Given the description of an element on the screen output the (x, y) to click on. 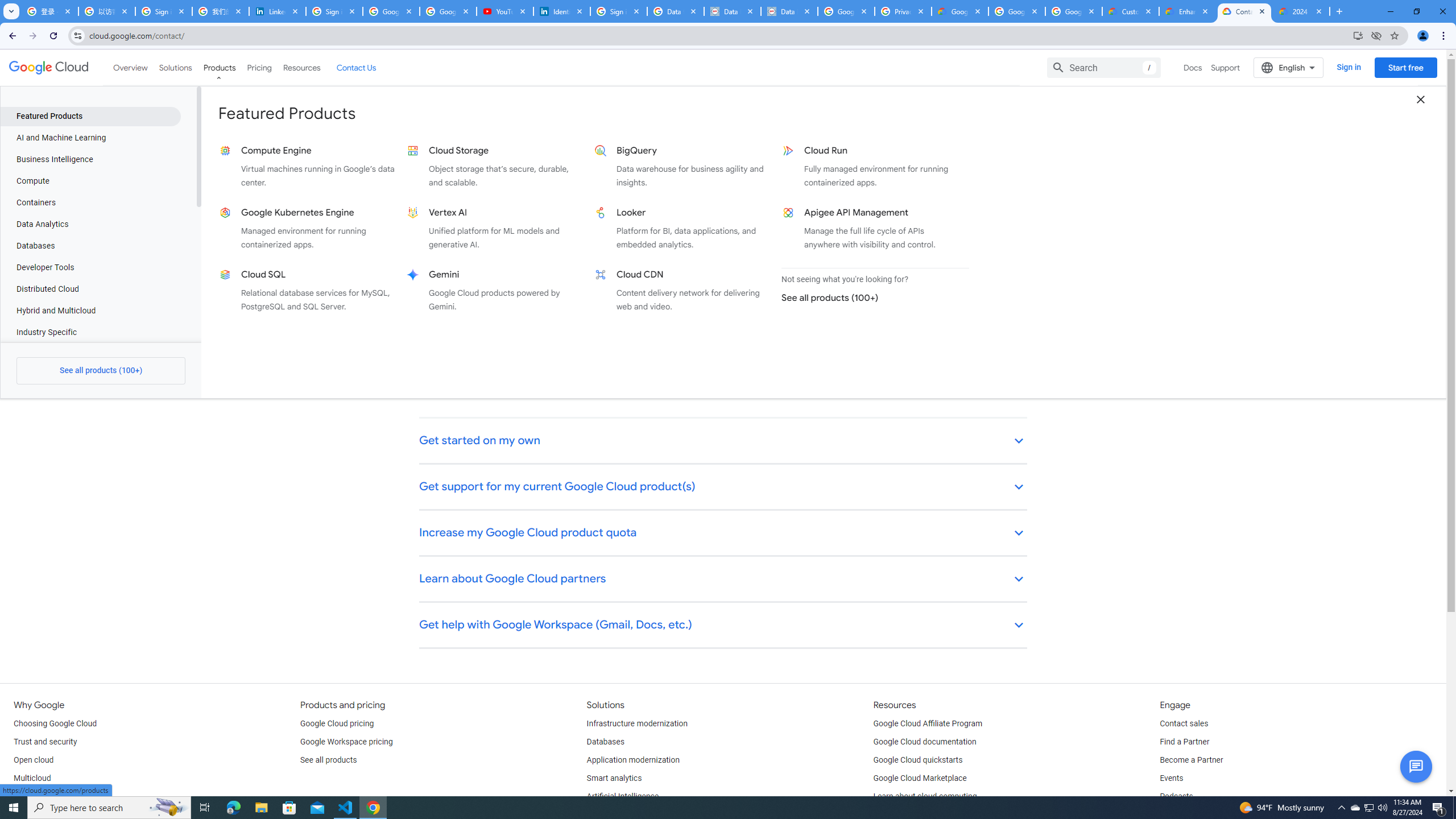
Compute (90, 180)
Google Workspace - Specific Terms (1073, 11)
Data Privacy Framework (788, 11)
English (1288, 67)
Google Workspace - Specific Terms (1015, 11)
